Given the description of an element on the screen output the (x, y) to click on. 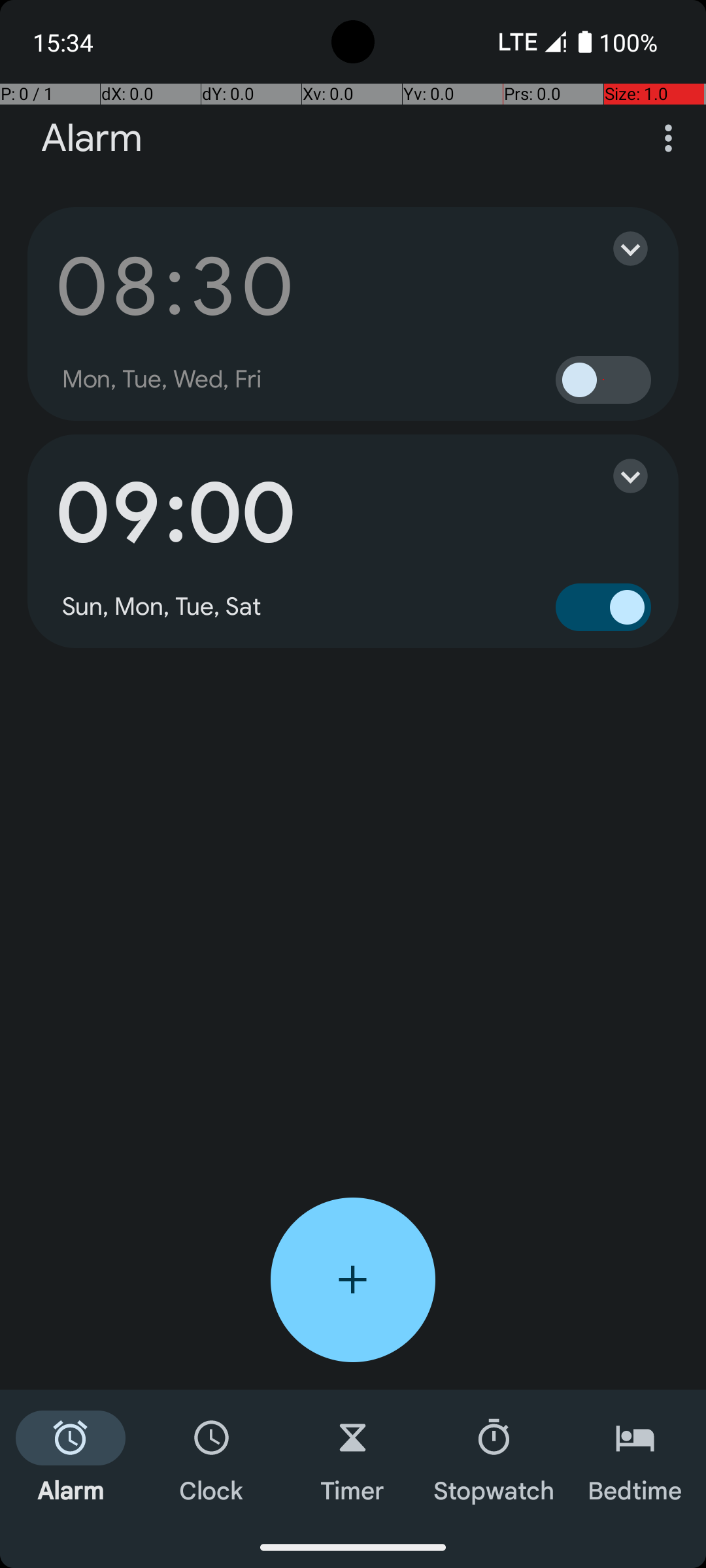
Mon, Tue, Wed, Fri Element type: android.widget.TextView (161, 379)
Sun, Mon, Tue, Sat Element type: android.widget.TextView (161, 606)
